Given the description of an element on the screen output the (x, y) to click on. 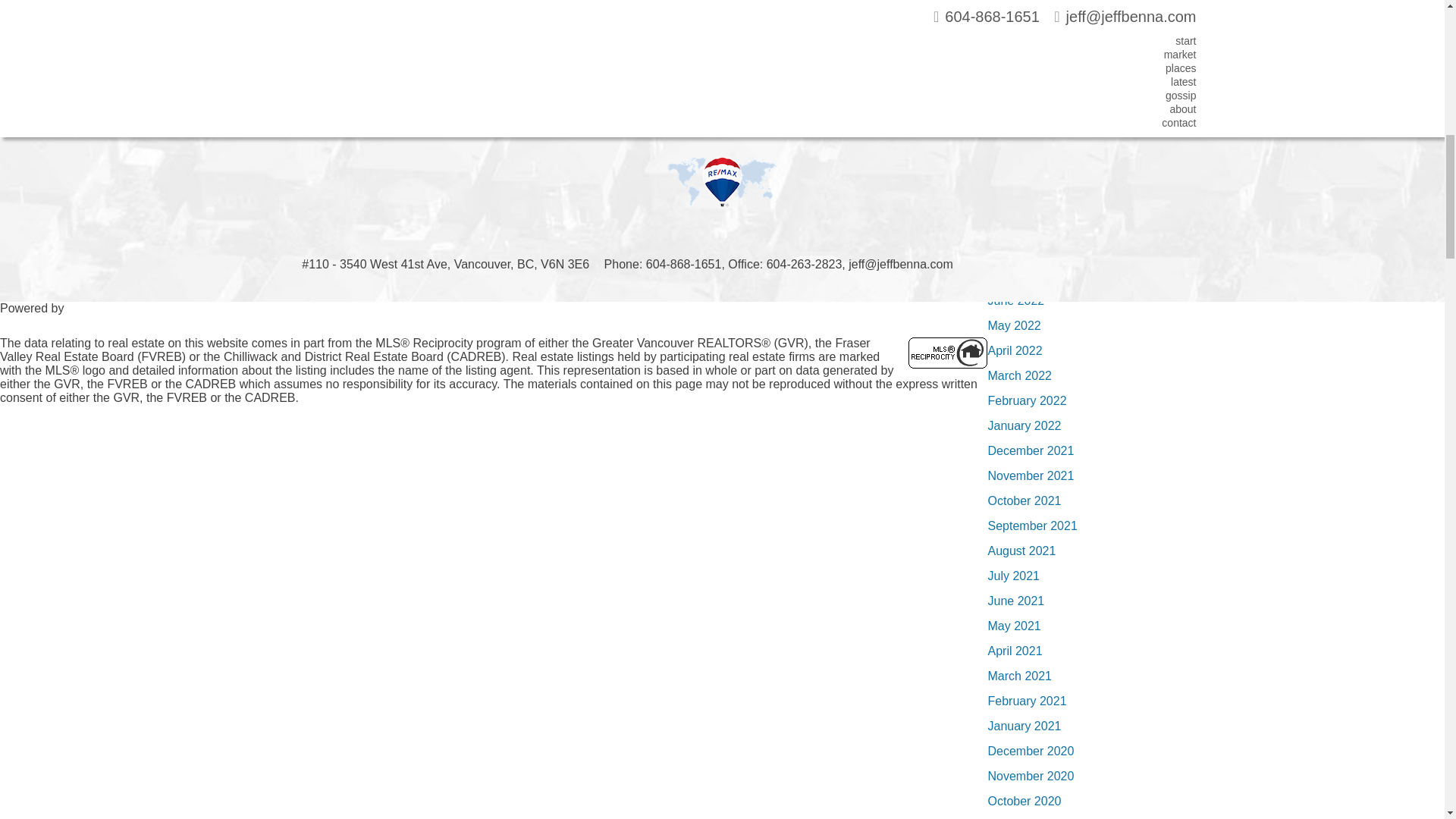
June 2023 (1015, 3)
April 2023 (1014, 50)
May 2023 (1014, 24)
